Given the description of an element on the screen output the (x, y) to click on. 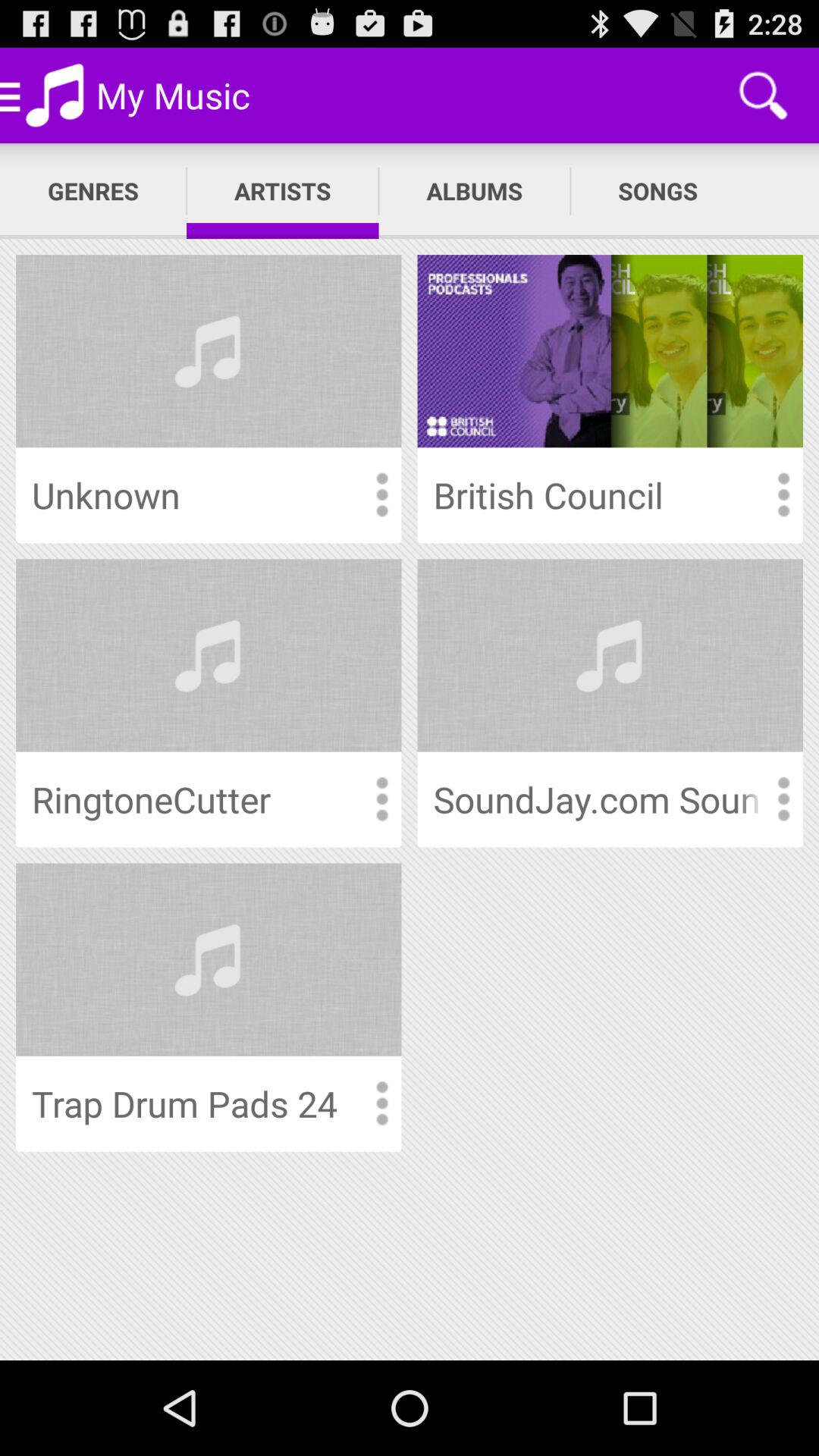
swipe until artists icon (282, 190)
